Given the description of an element on the screen output the (x, y) to click on. 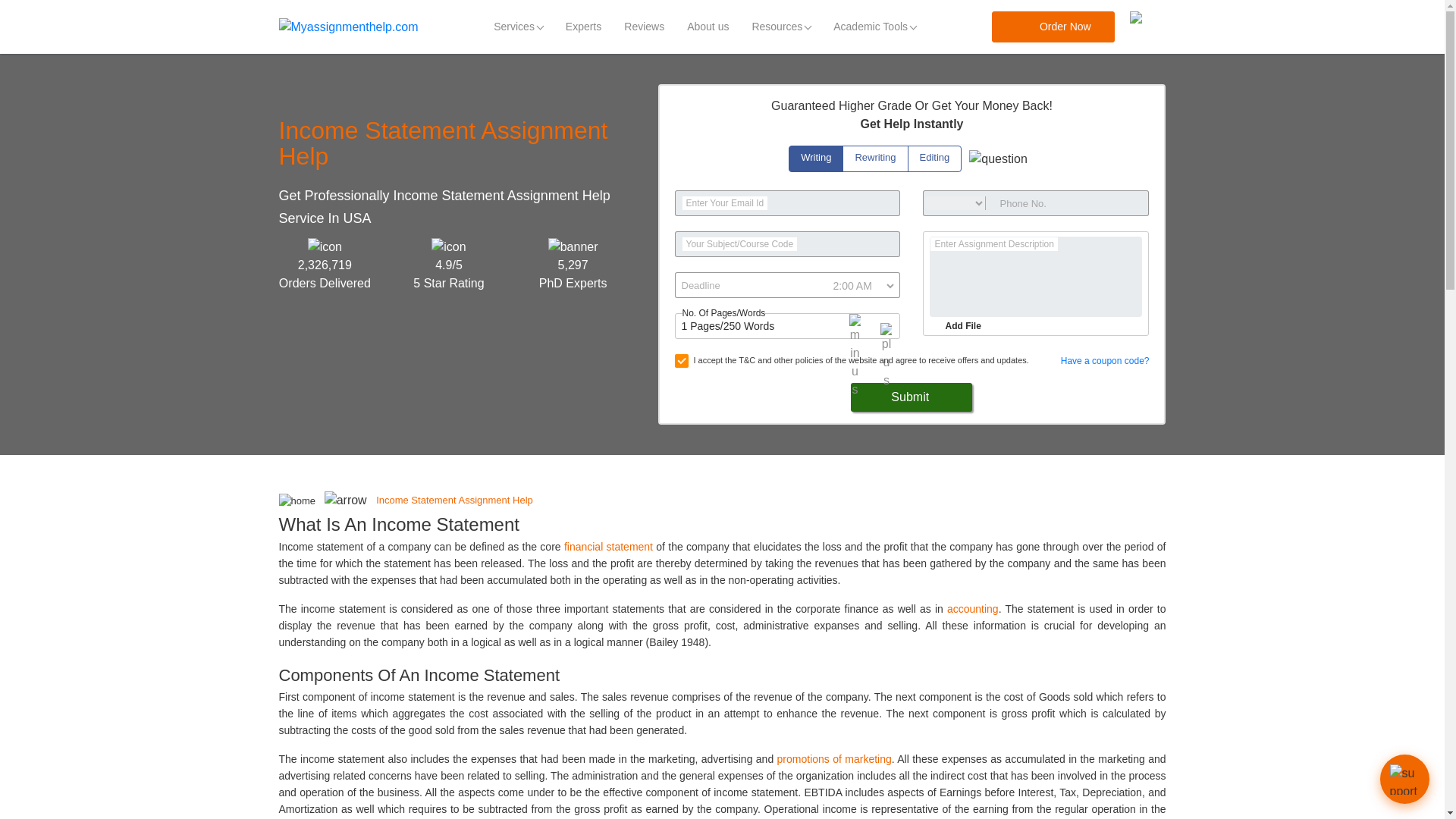
Services (517, 26)
menu (1147, 26)
Info (998, 158)
